Given the description of an element on the screen output the (x, y) to click on. 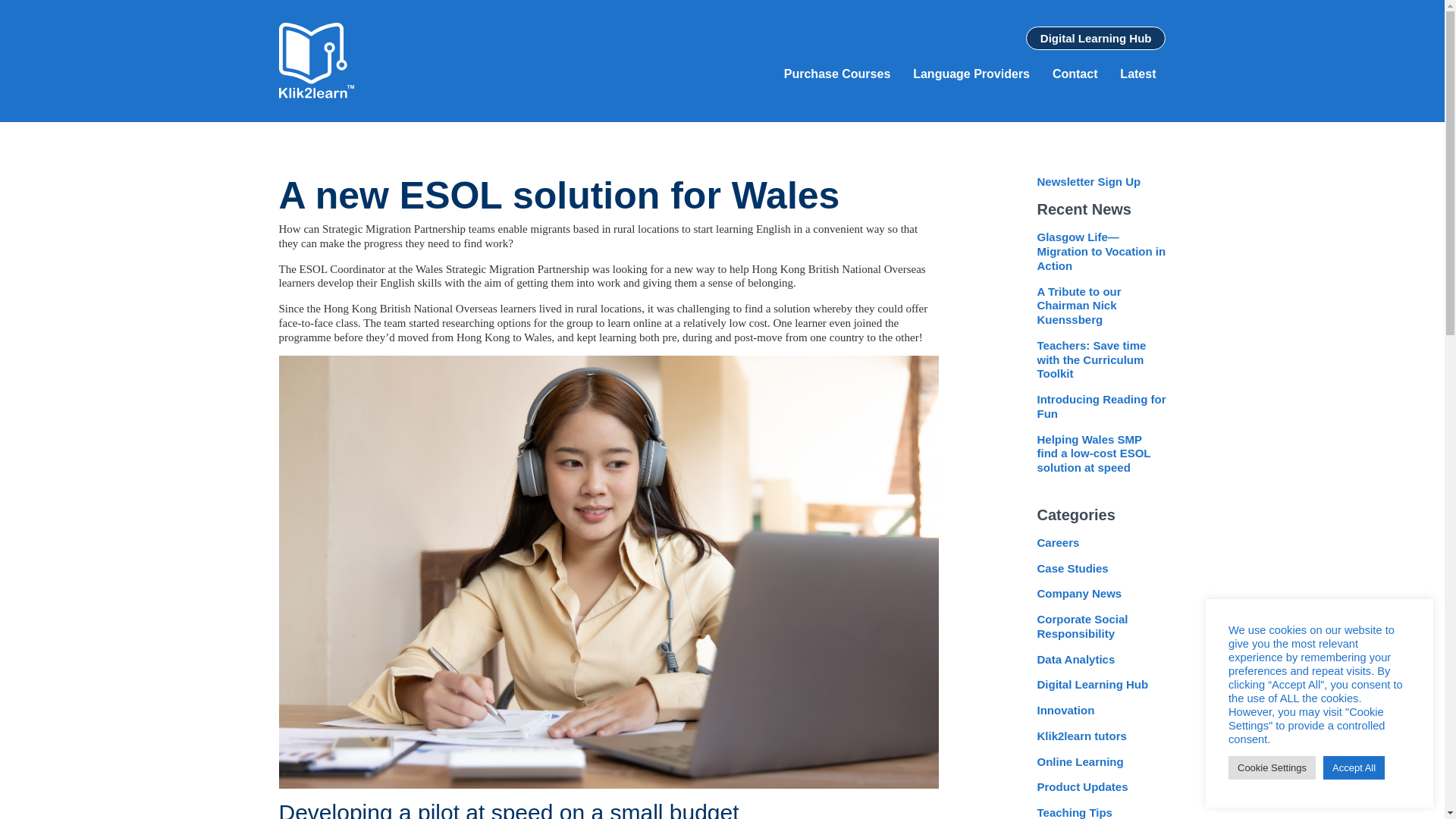
Newsletter Sign Up (1088, 181)
Language Providers (971, 74)
Digital Learning Hub (1096, 37)
Sign in to the Digital Learning Hub (1096, 37)
Teachers: Save time with the Curriculum Toolkit (1090, 359)
Contact (1074, 74)
Purchase Courses (836, 74)
Latest (1137, 74)
A Tribute to our Chairman Nick Kuenssberg (1078, 305)
